Given the description of an element on the screen output the (x, y) to click on. 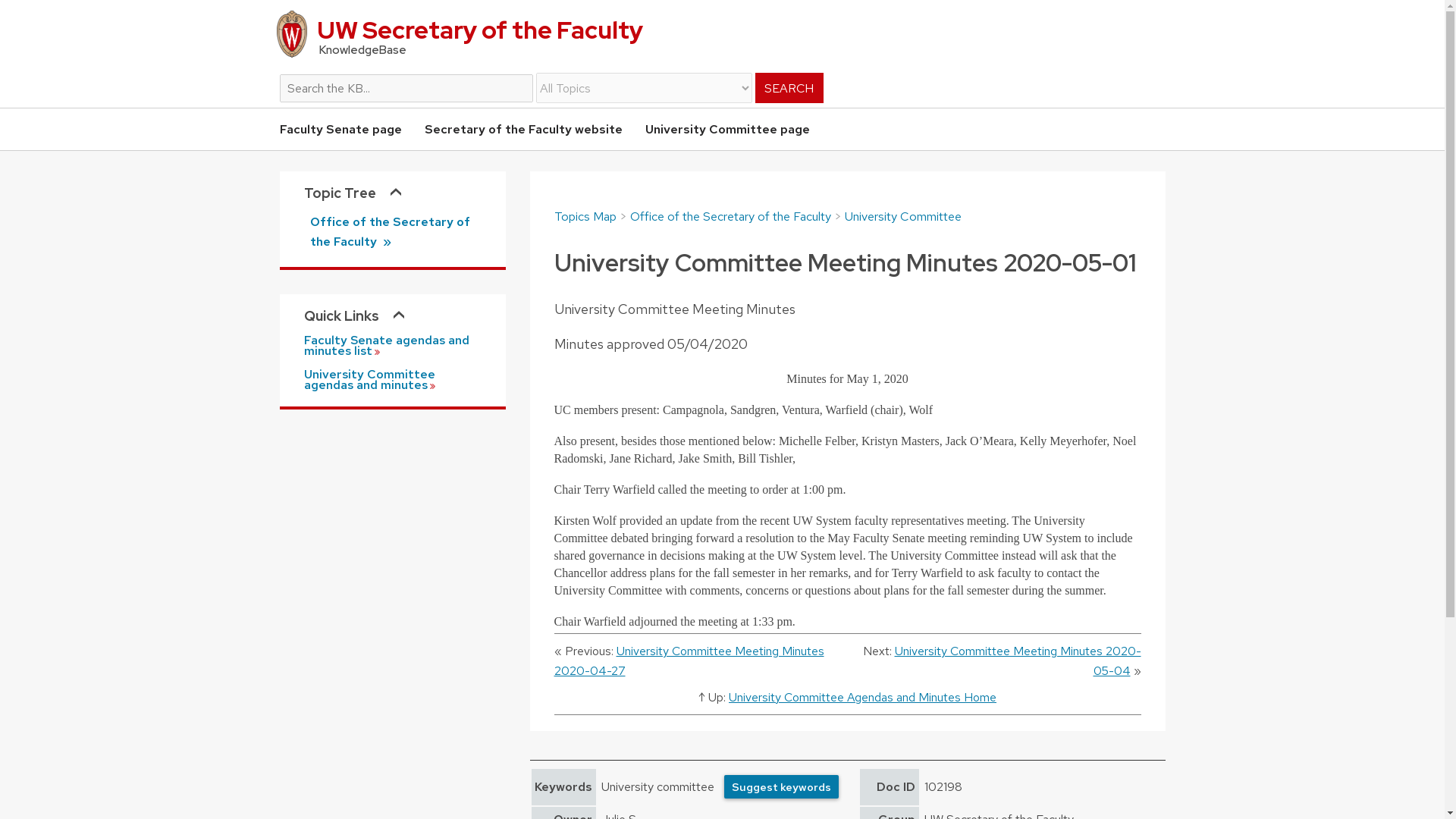
SEARCH (789, 87)
Office of the Secretary of the Faculty (728, 216)
UW Secretary of the Faculty (721, 34)
SEARCH (789, 87)
University Committee Agendas and Minutes Home (862, 697)
University Committee page (727, 128)
Search (721, 79)
Suggest keywords (780, 786)
University Committee (902, 216)
University Committee agendas and minutes (391, 379)
Secretary of the Faculty website (524, 128)
University Committee Meeting Minutes 2020-04-27 (688, 660)
Faculty Senate page (340, 128)
University Committee Meeting Minutes 2020-05-04 (1018, 660)
Topics Map (584, 216)
